Given the description of an element on the screen output the (x, y) to click on. 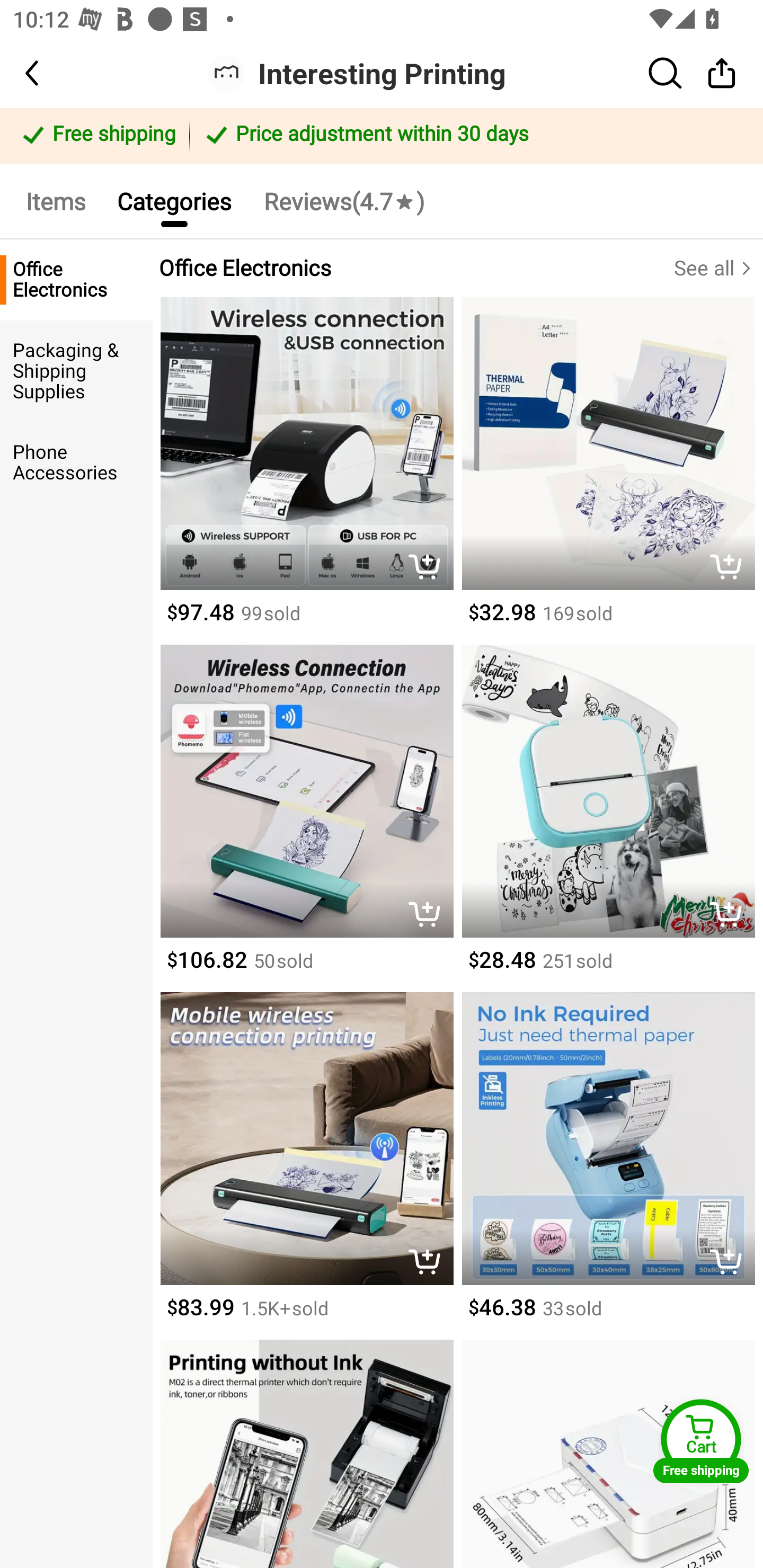
back (47, 72)
share (721, 72)
Free shipping (97, 135)
Price adjustment within 30 days (472, 135)
Items (55, 200)
Categories (174, 200)
Reviews(4.7 ) (343, 200)
Office Electronics (76, 279)
See all (718, 267)
delete $97.48 99￼sold (306, 470)
delete $32.98 169￼sold (608, 470)
Packaging & Shipping Supplies (76, 370)
Phone Accessories (76, 462)
delete (429, 568)
delete (731, 568)
delete $106.82 50￼sold (306, 818)
delete $28.48 251￼sold (608, 818)
delete (429, 916)
delete (731, 916)
delete $83.99 1.5K+￼sold (306, 1165)
delete $46.38 33￼sold (608, 1165)
delete (429, 1263)
delete (731, 1263)
Cart Free shipping Cart (701, 1440)
